Given the description of an element on the screen output the (x, y) to click on. 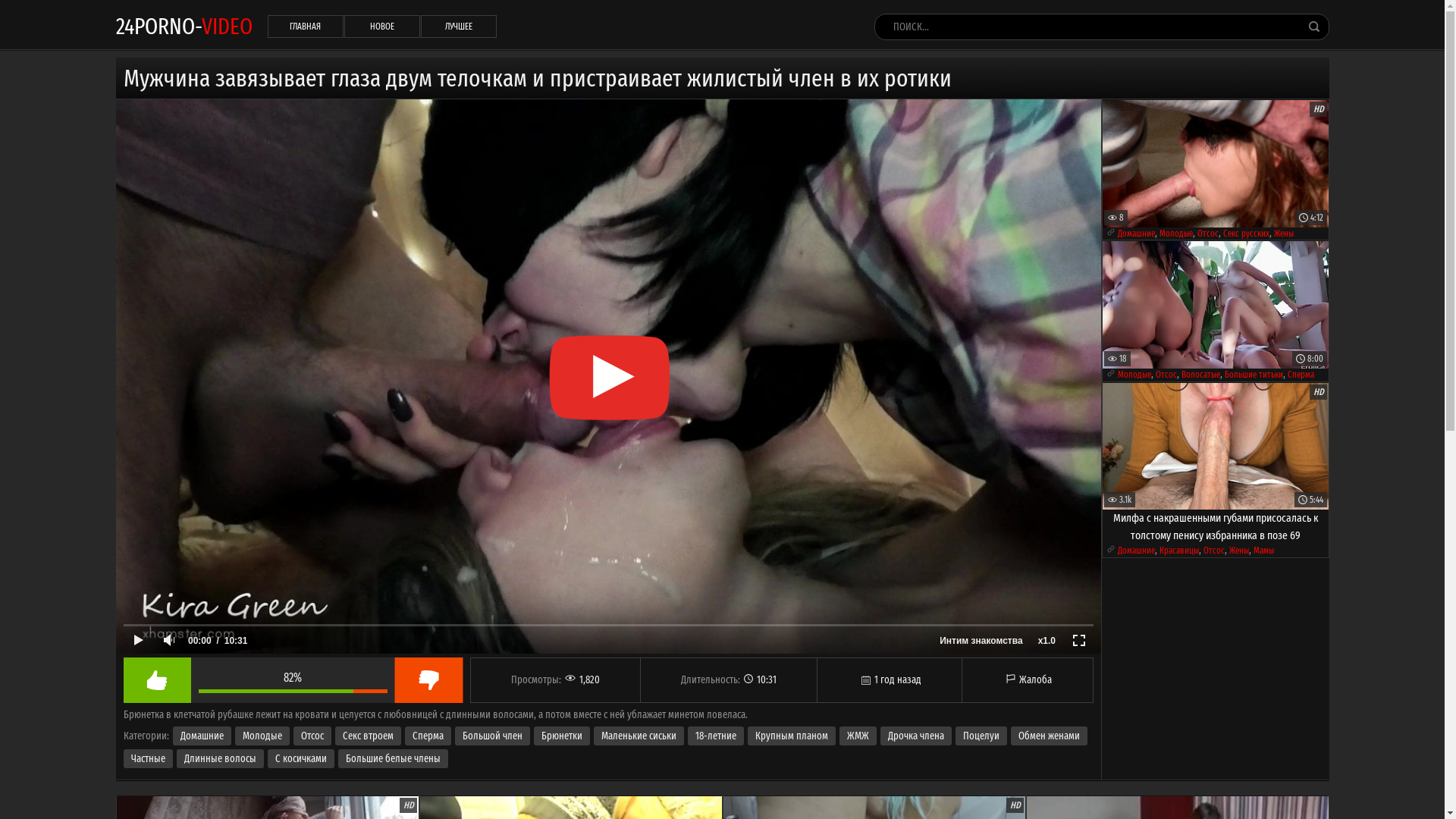
8:00
18 Element type: text (1215, 304)
HD
4:12
8 Element type: text (1215, 163)
HD
5:44
3.1k Element type: text (1215, 446)
24PORNO-VIDEO Element type: text (183, 25)
